Given the description of an element on the screen output the (x, y) to click on. 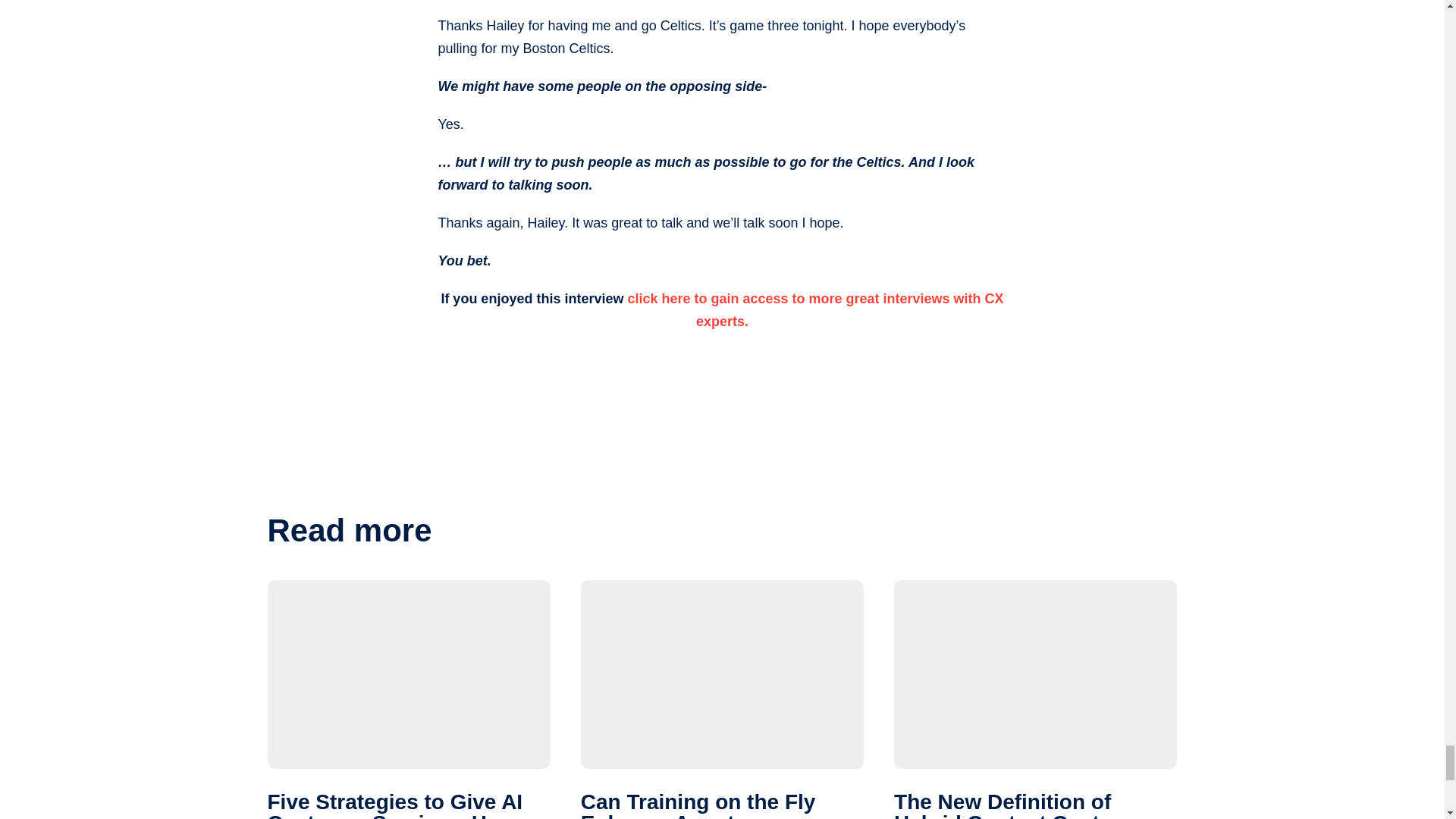
Read More (1034, 699)
Read More (721, 699)
Read More (408, 699)
